Given the description of an element on the screen output the (x, y) to click on. 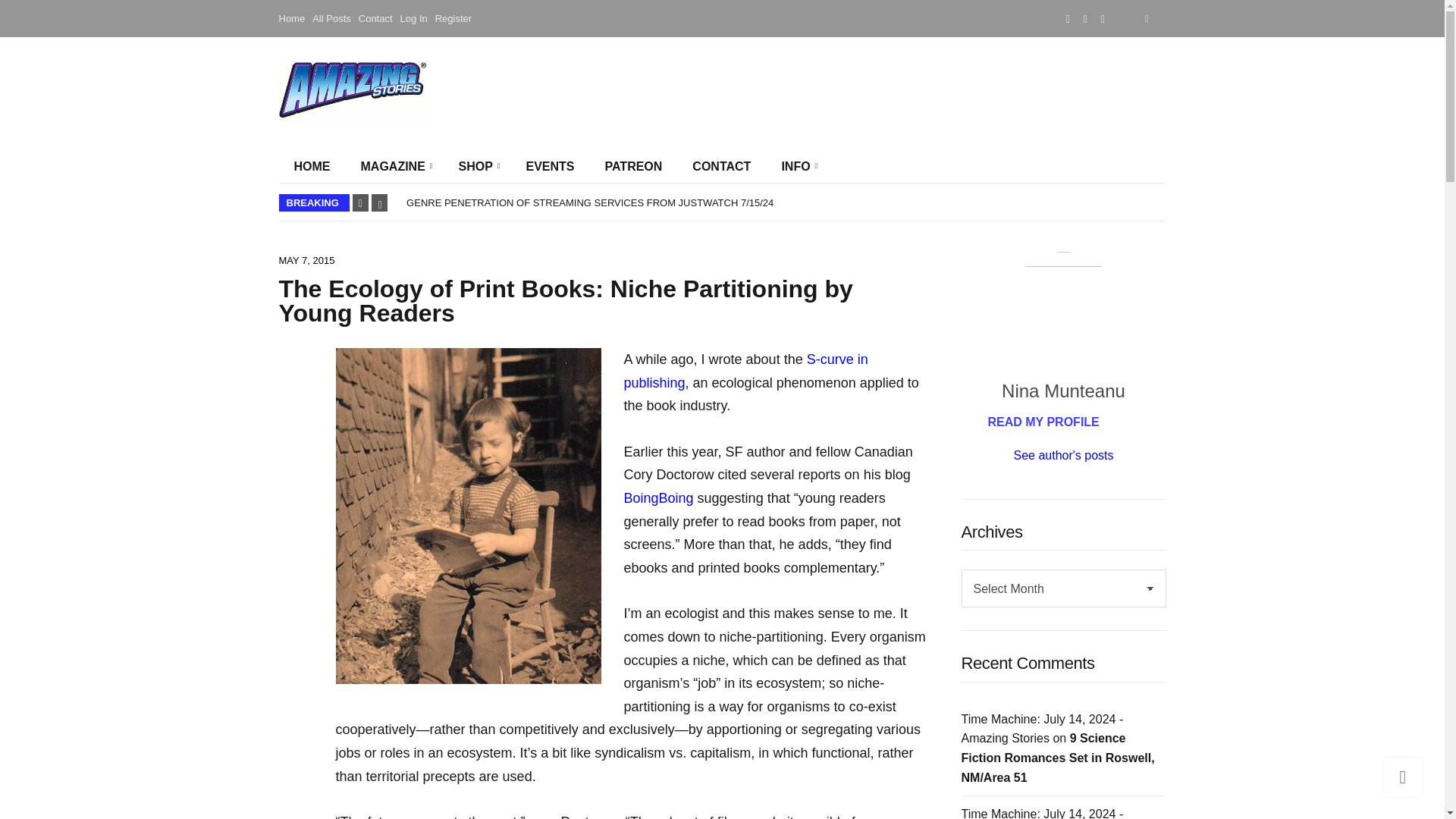
MAGAZINE (395, 166)
Twitter (1085, 18)
EVENTS (550, 166)
All Posts (331, 18)
SHOP (476, 166)
PATREON (633, 166)
HOME (312, 166)
Home (292, 18)
RSS (1102, 18)
Contact (375, 18)
Facebook (1068, 18)
Advertisement (874, 93)
Register (453, 18)
INFO (796, 166)
Log In (414, 18)
